Given the description of an element on the screen output the (x, y) to click on. 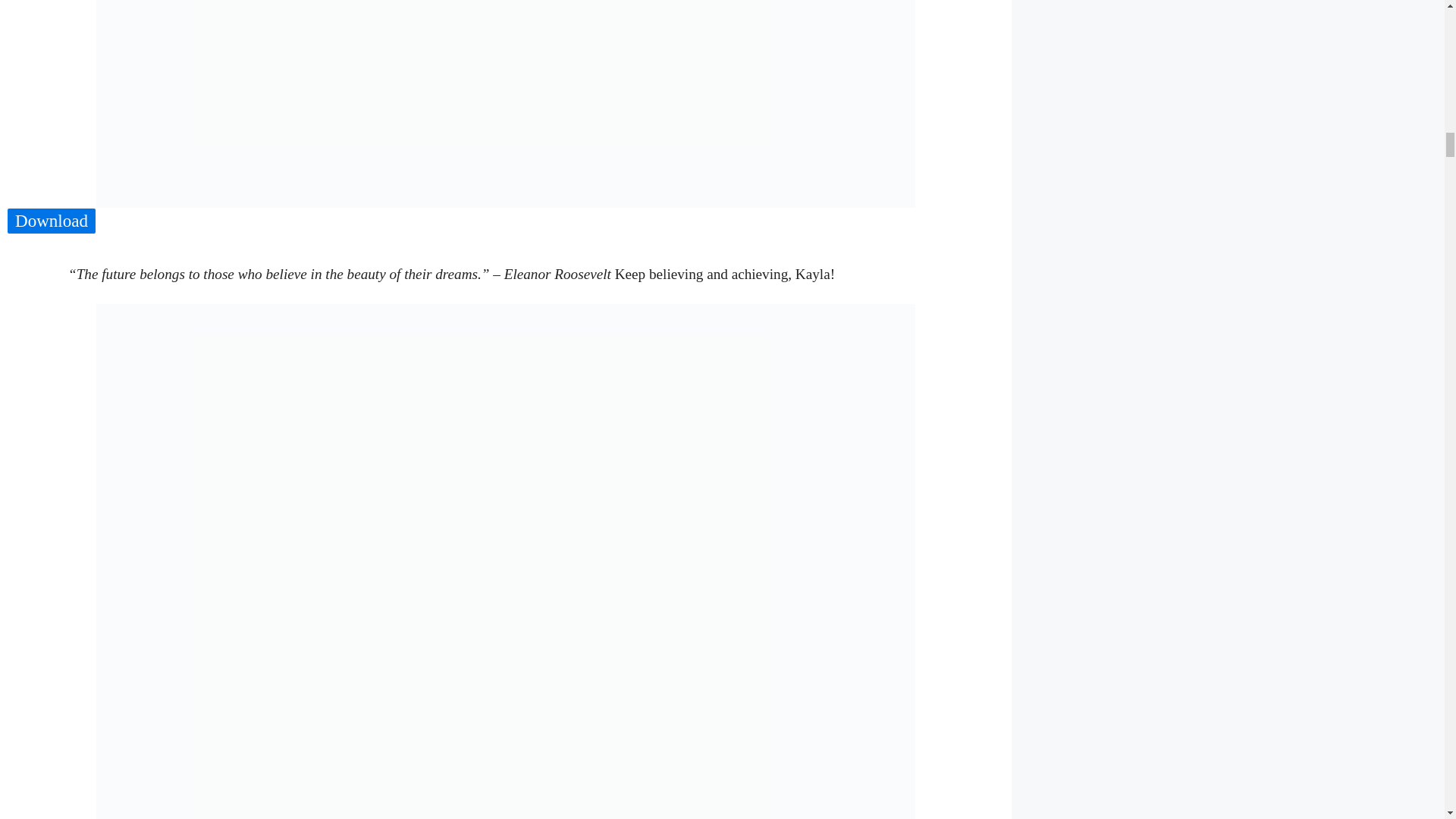
Download (51, 220)
Download (51, 221)
